Given the description of an element on the screen output the (x, y) to click on. 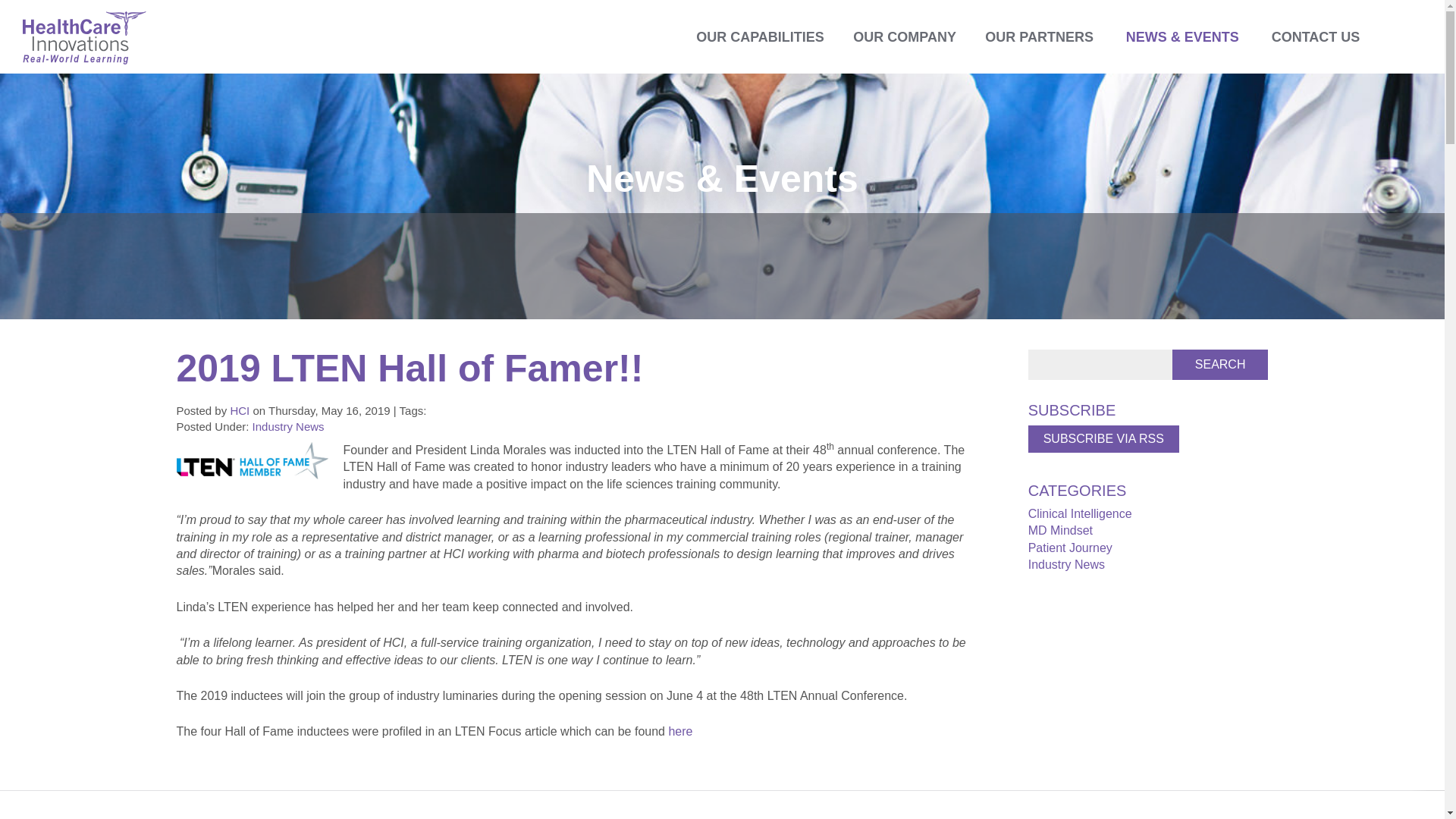
Search (1220, 364)
OUR COMPANY (904, 36)
Industry News (1066, 563)
here (680, 730)
OUR PARTNERS (1039, 36)
Industry News (287, 426)
OUR CAPABILITIES (759, 36)
HCI (240, 410)
Patient Journey (1069, 547)
MD Mindset (1060, 530)
SUBSCRIBE VIA RSS (1103, 438)
Clinical Intelligence (1079, 513)
CONTACT US (1315, 36)
